Given the description of an element on the screen output the (x, y) to click on. 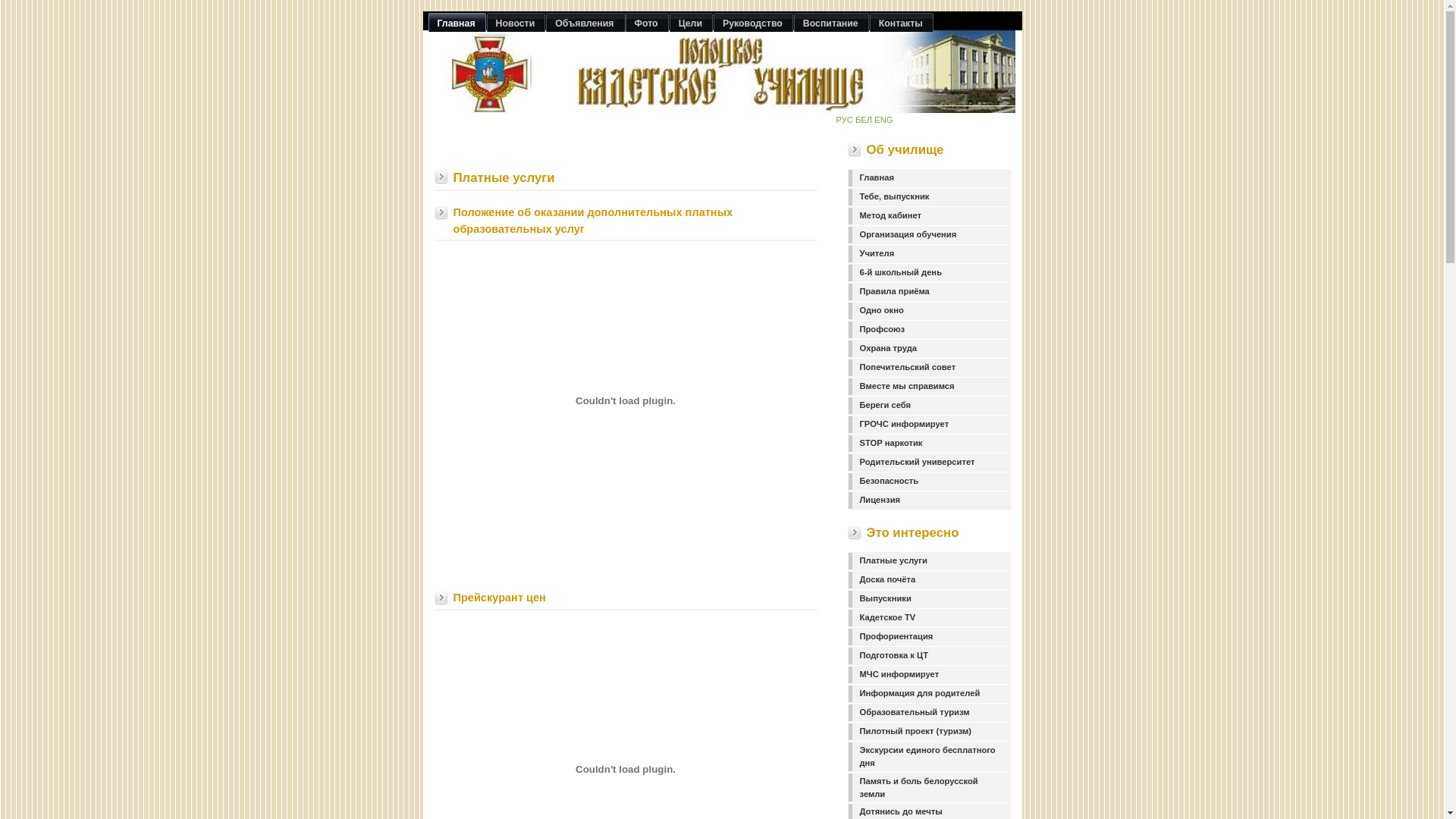
ENG Element type: text (883, 119)
